Given the description of an element on the screen output the (x, y) to click on. 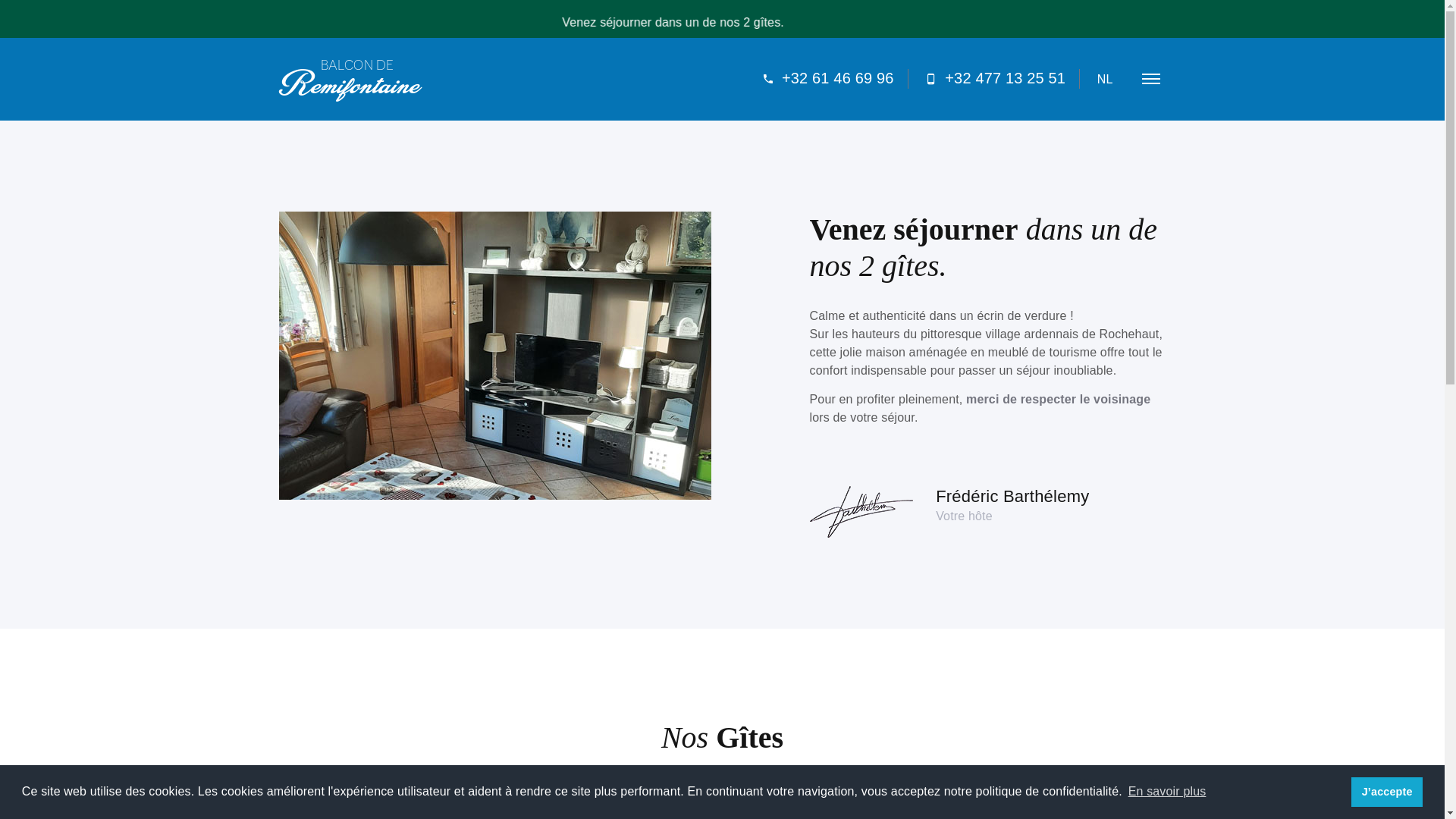
+32 477 13 25 51 Element type: text (995, 78)
En savoir plus Element type: text (1166, 791)
+32 61 46 69 96 Element type: text (828, 78)
NL Element type: text (1105, 78)
Balcon de
Remifontaine Element type: text (349, 78)
